Given the description of an element on the screen output the (x, y) to click on. 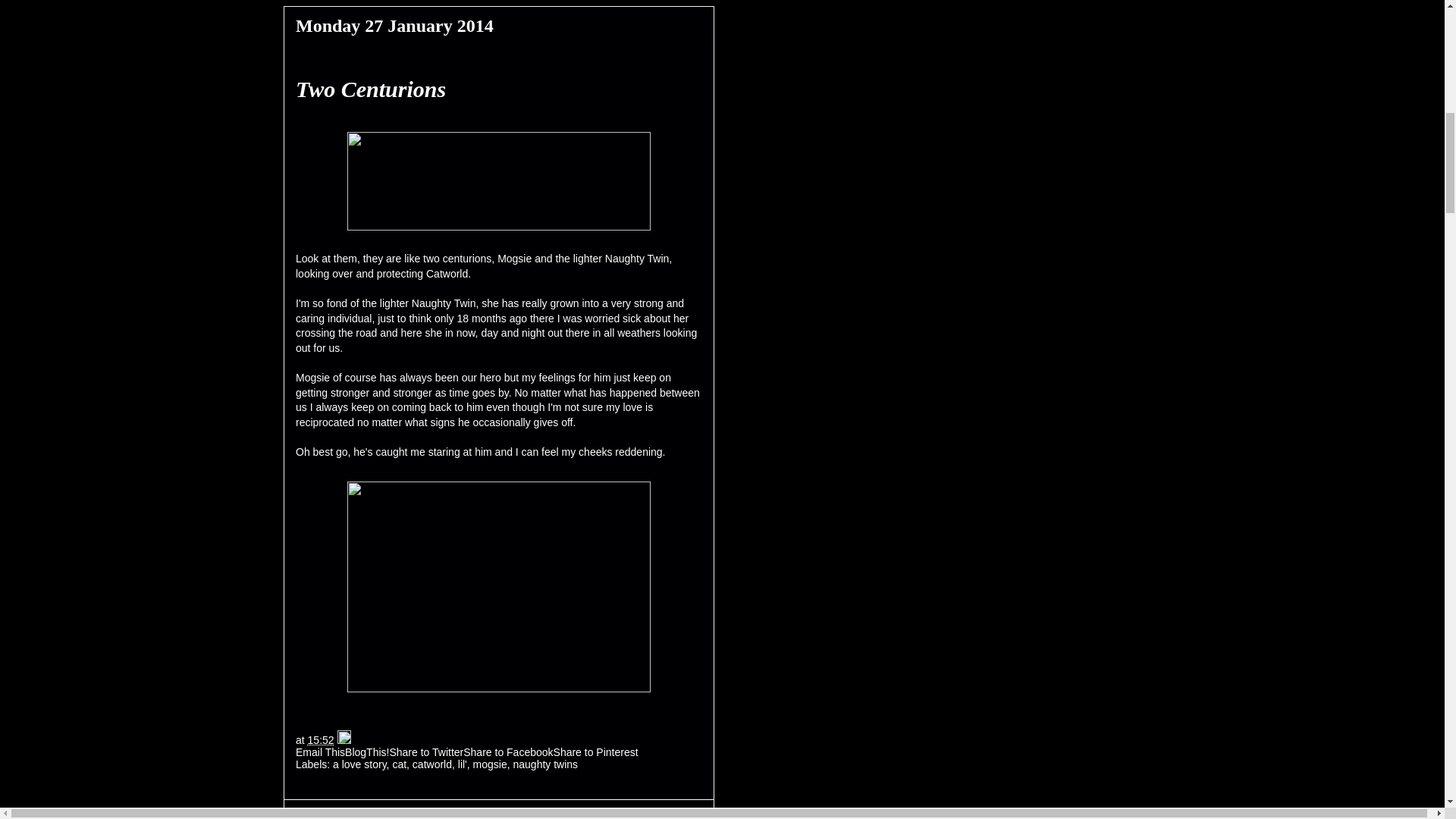
cat (398, 764)
Email This (320, 752)
15:52 (320, 739)
mogsie (489, 764)
naughty twins (545, 764)
BlogThis! (366, 752)
a love story (360, 764)
Email This (320, 752)
catworld (431, 764)
Share to Facebook (508, 752)
permanent link (320, 739)
Share to Facebook (508, 752)
Share to Twitter (425, 752)
Share to Pinterest (596, 752)
Share to Twitter (425, 752)
